Given the description of an element on the screen output the (x, y) to click on. 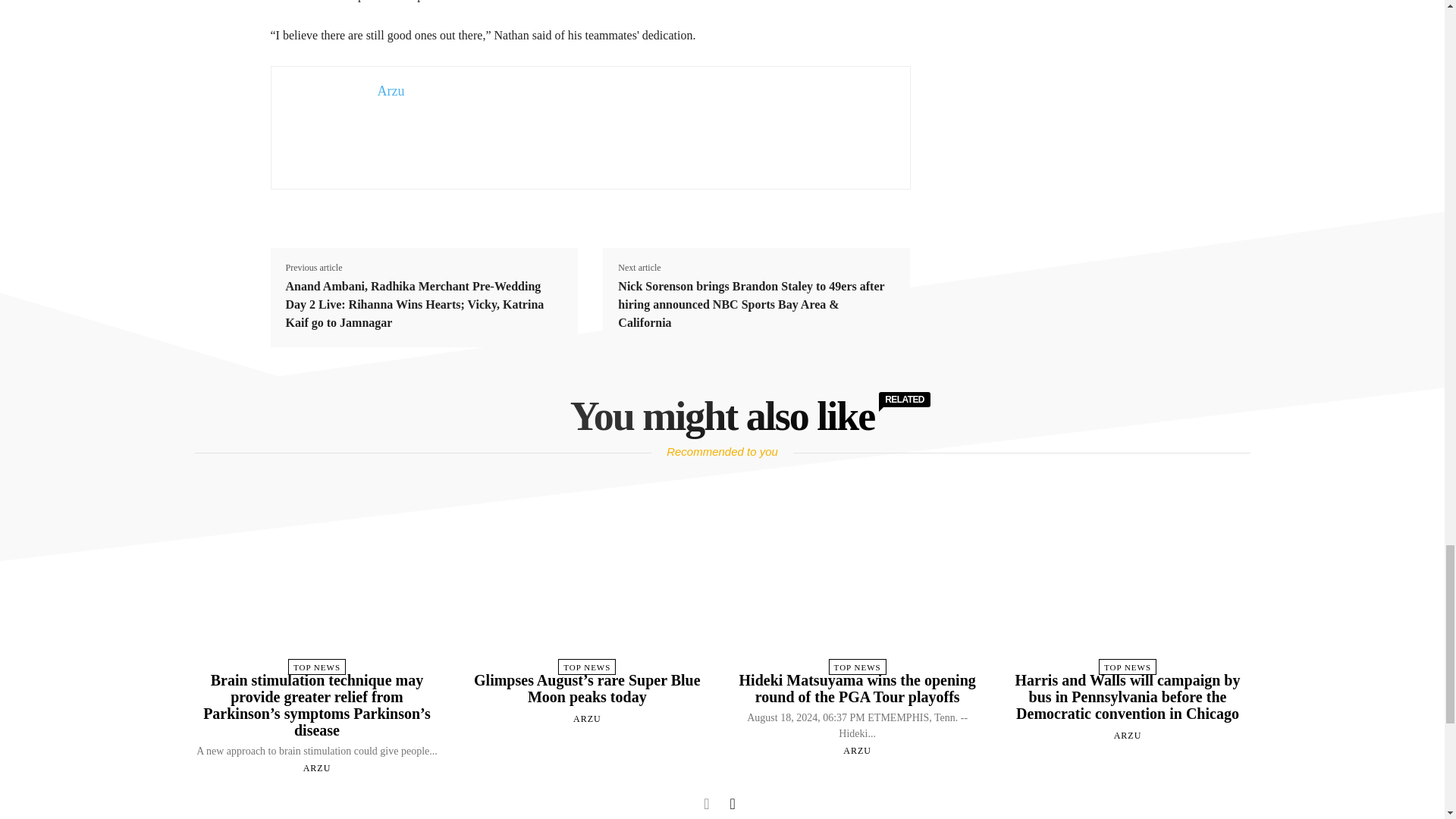
TOP NEWS (317, 666)
ARZU (316, 767)
TOP NEWS (586, 666)
ARZU (587, 718)
Arzu (390, 90)
